Given the description of an element on the screen output the (x, y) to click on. 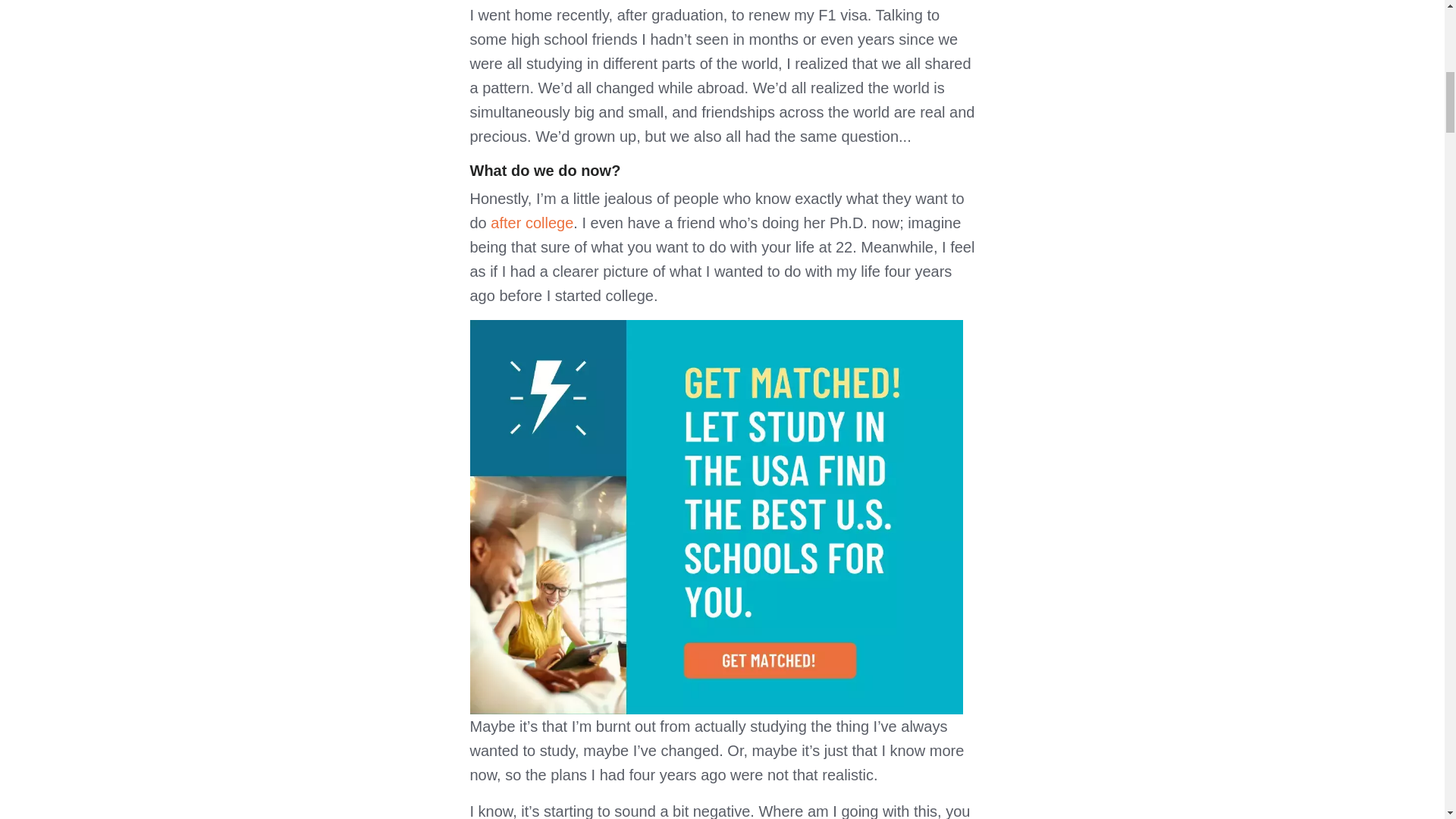
after college (531, 222)
